Given the description of an element on the screen output the (x, y) to click on. 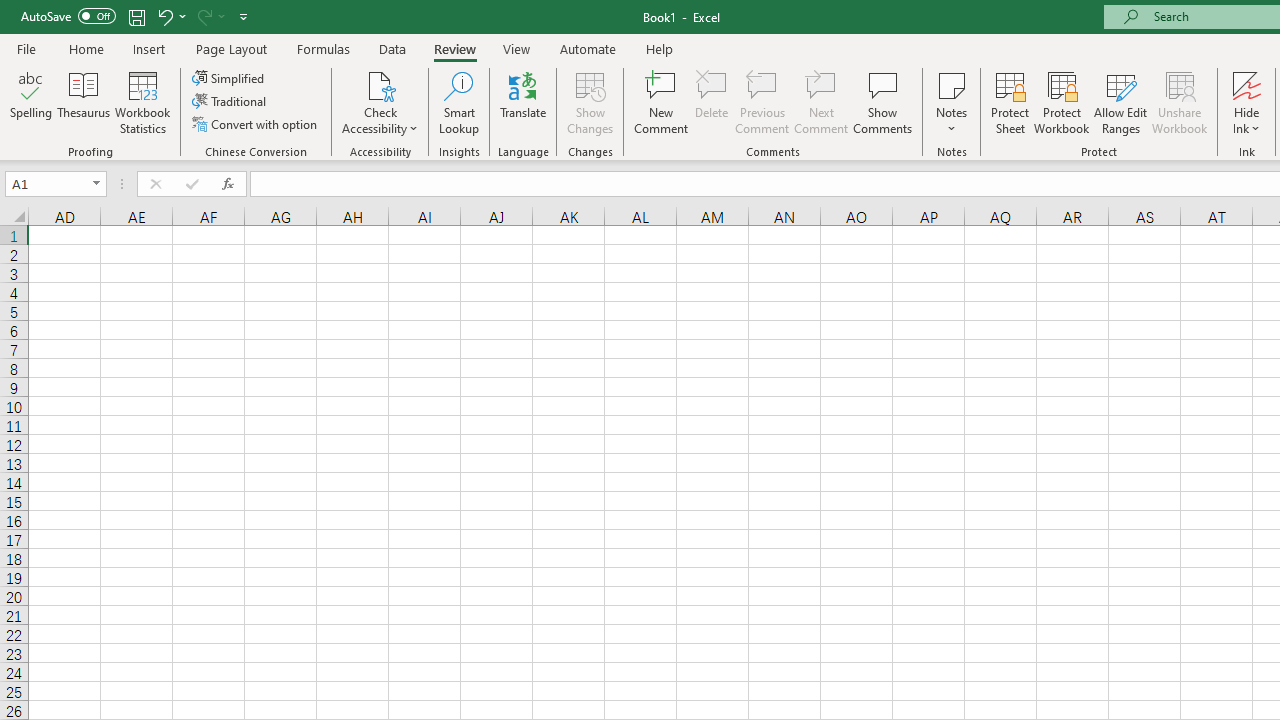
Previous Comment (762, 102)
Smart Lookup (459, 102)
Delete (712, 102)
Allow Edit Ranges (1120, 102)
Thesaurus... (83, 102)
Spelling... (31, 102)
Show Changes (589, 102)
